Given the description of an element on the screen output the (x, y) to click on. 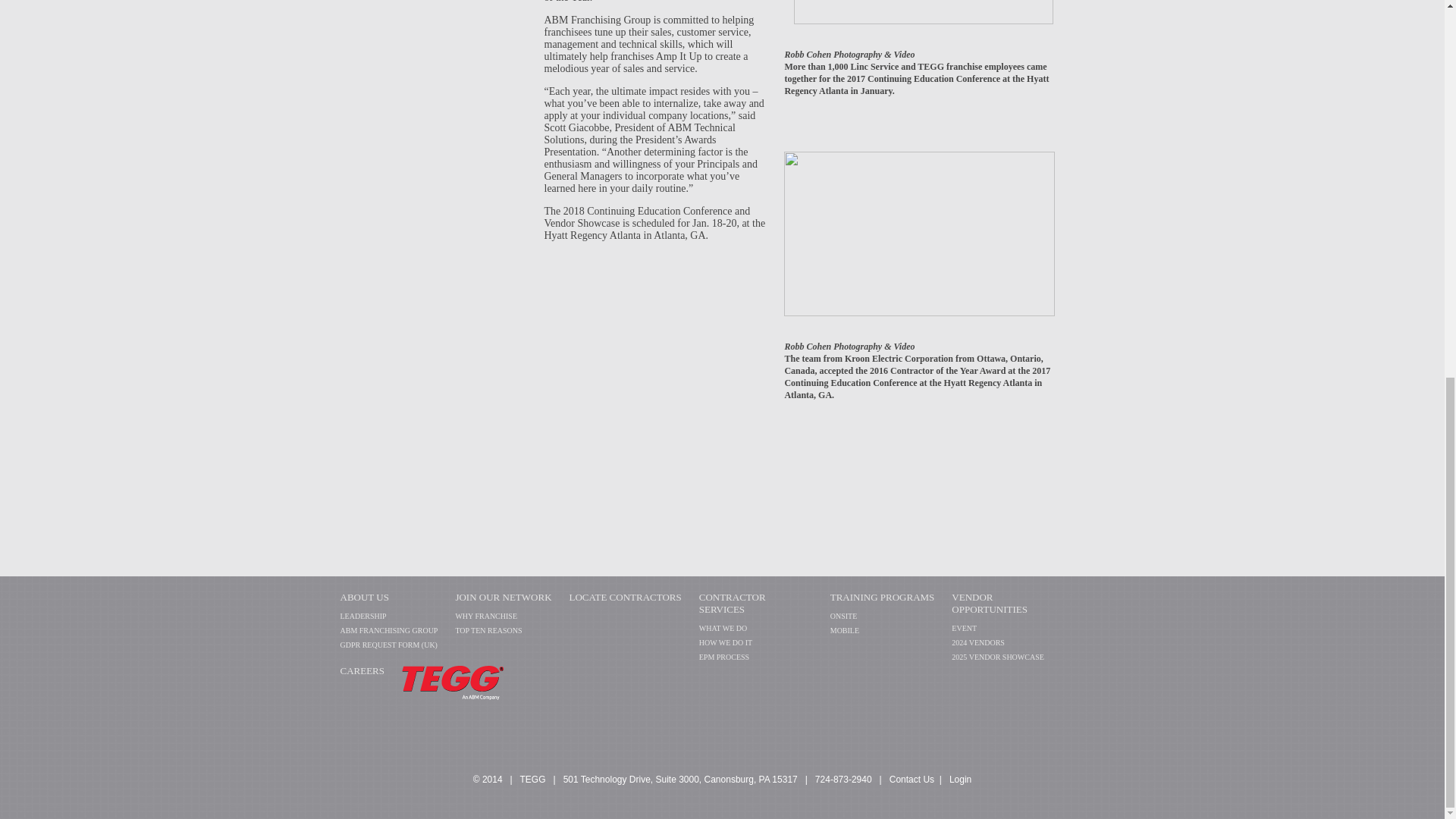
ABOUT US (363, 596)
LEADERSHIP (362, 615)
ABM FRANCHISING GROUP (388, 630)
